Given the description of an element on the screen output the (x, y) to click on. 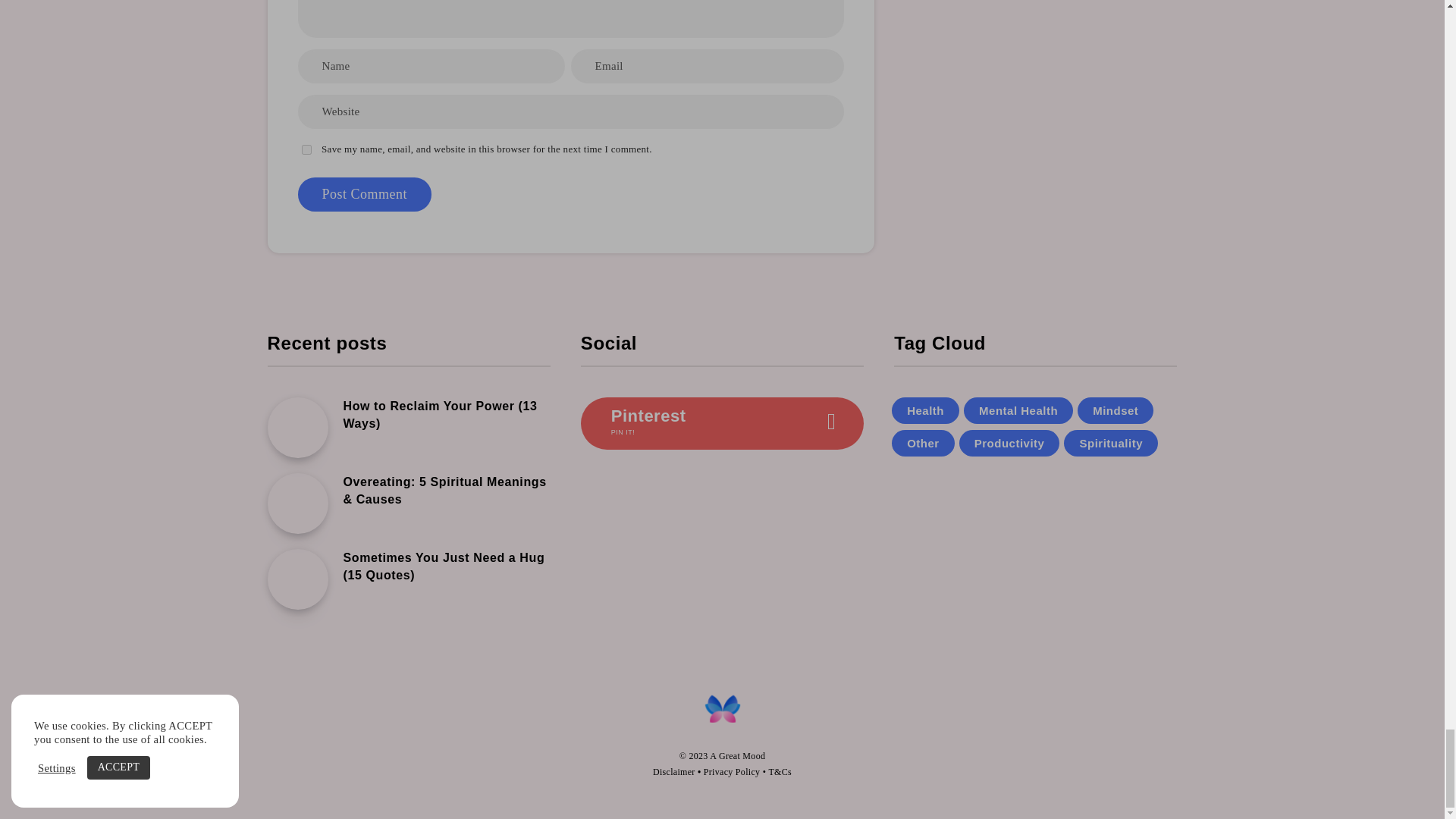
Post Comment (363, 194)
Post Comment (363, 194)
yes (306, 149)
